Given the description of an element on the screen output the (x, y) to click on. 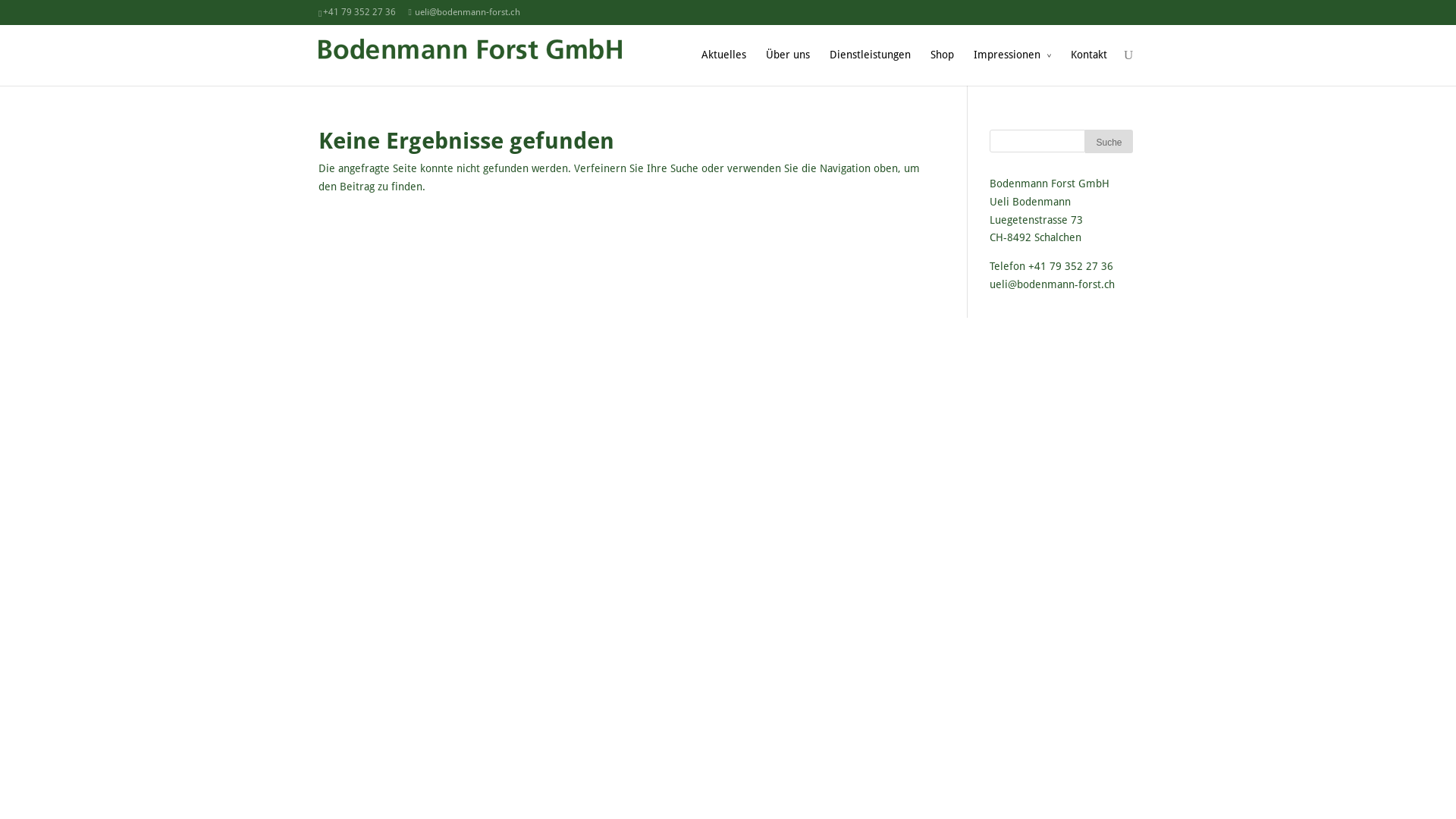
Impressionen Element type: text (1012, 65)
Shop Element type: text (941, 65)
ueli@bodenmann-forst.ch Element type: text (1051, 284)
Suche Element type: text (1108, 141)
ueli@bodenmann-forst.ch Element type: text (463, 11)
Aktuelles Element type: text (723, 65)
Dienstleistungen Element type: text (869, 65)
Kontakt Element type: text (1088, 65)
